Given the description of an element on the screen output the (x, y) to click on. 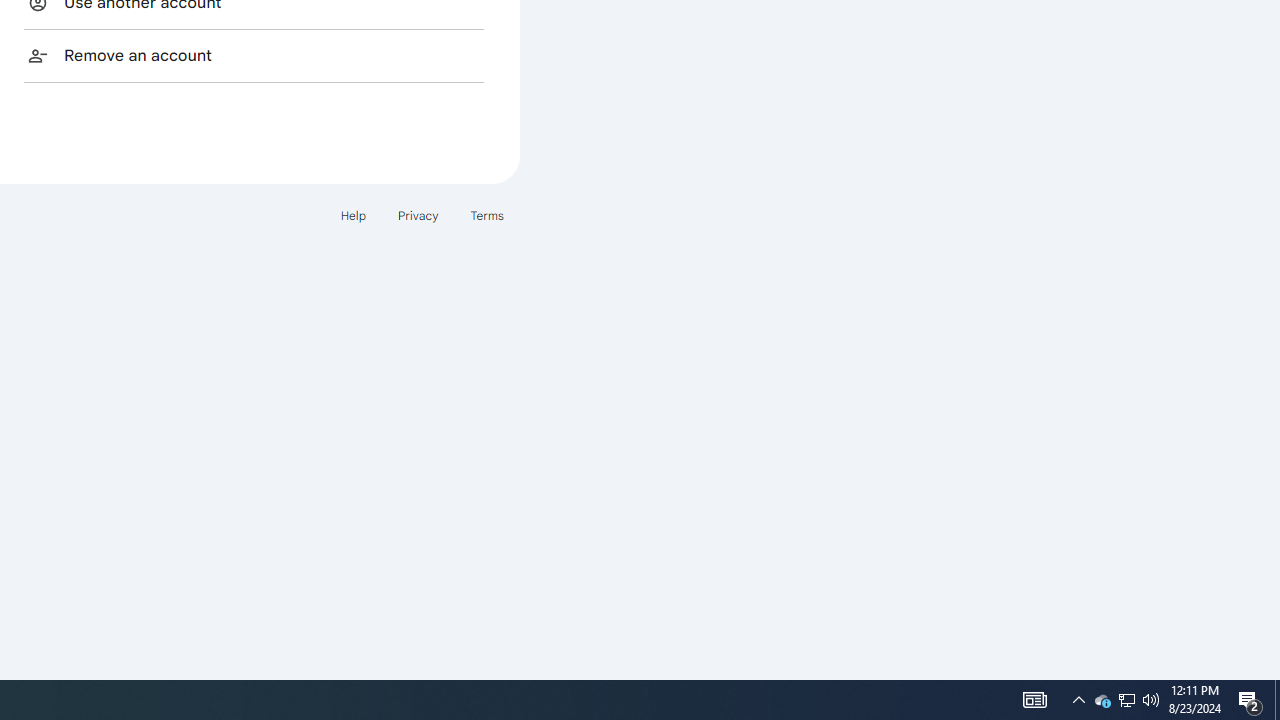
Remove an account (253, 55)
